Given the description of an element on the screen output the (x, y) to click on. 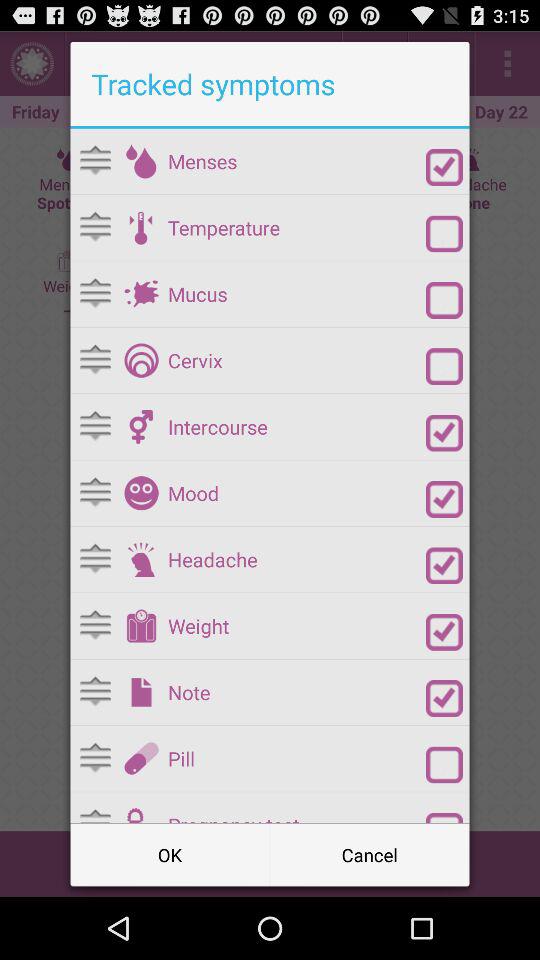
select note item (296, 692)
